Given the description of an element on the screen output the (x, y) to click on. 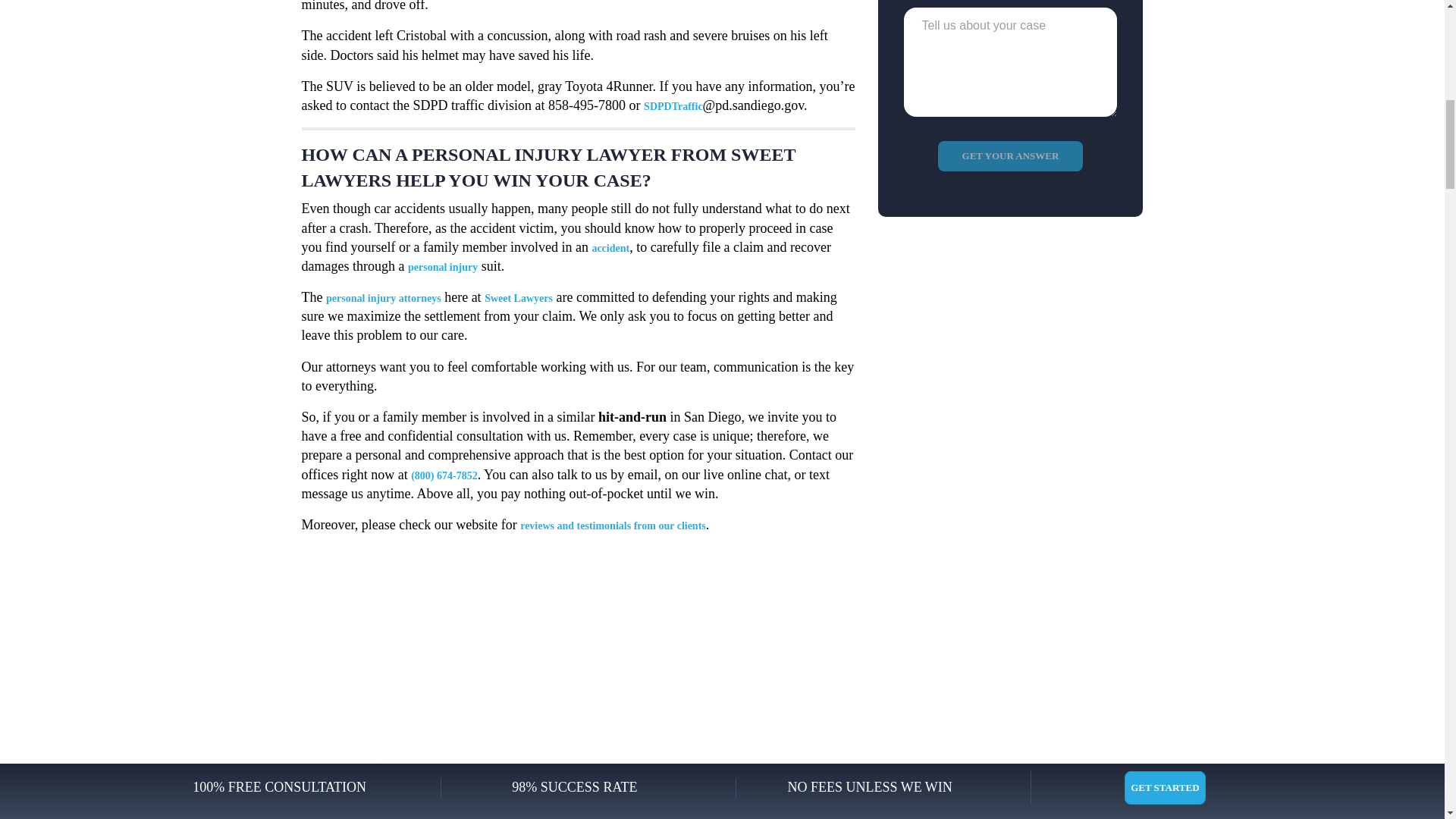
Get Your Answer (1010, 155)
reviews and testimonials from our clients (612, 525)
Get Your Answer (1010, 155)
SDPDTraffic (673, 106)
accident (609, 247)
personal injury attorneys (383, 297)
personal injury (442, 266)
Sweet Lawyers (518, 297)
